Given the description of an element on the screen output the (x, y) to click on. 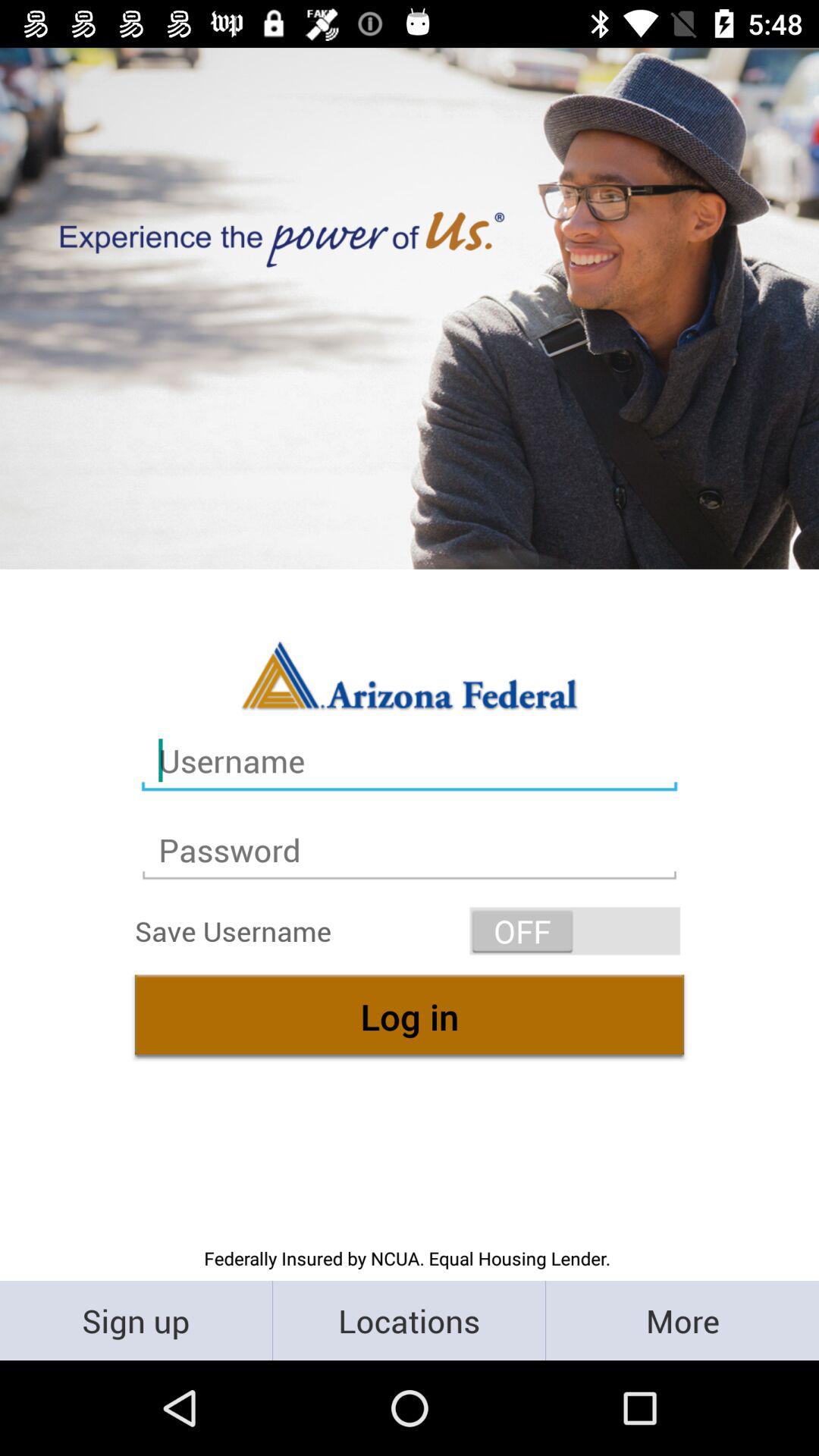
click locations icon (409, 1320)
